Given the description of an element on the screen output the (x, y) to click on. 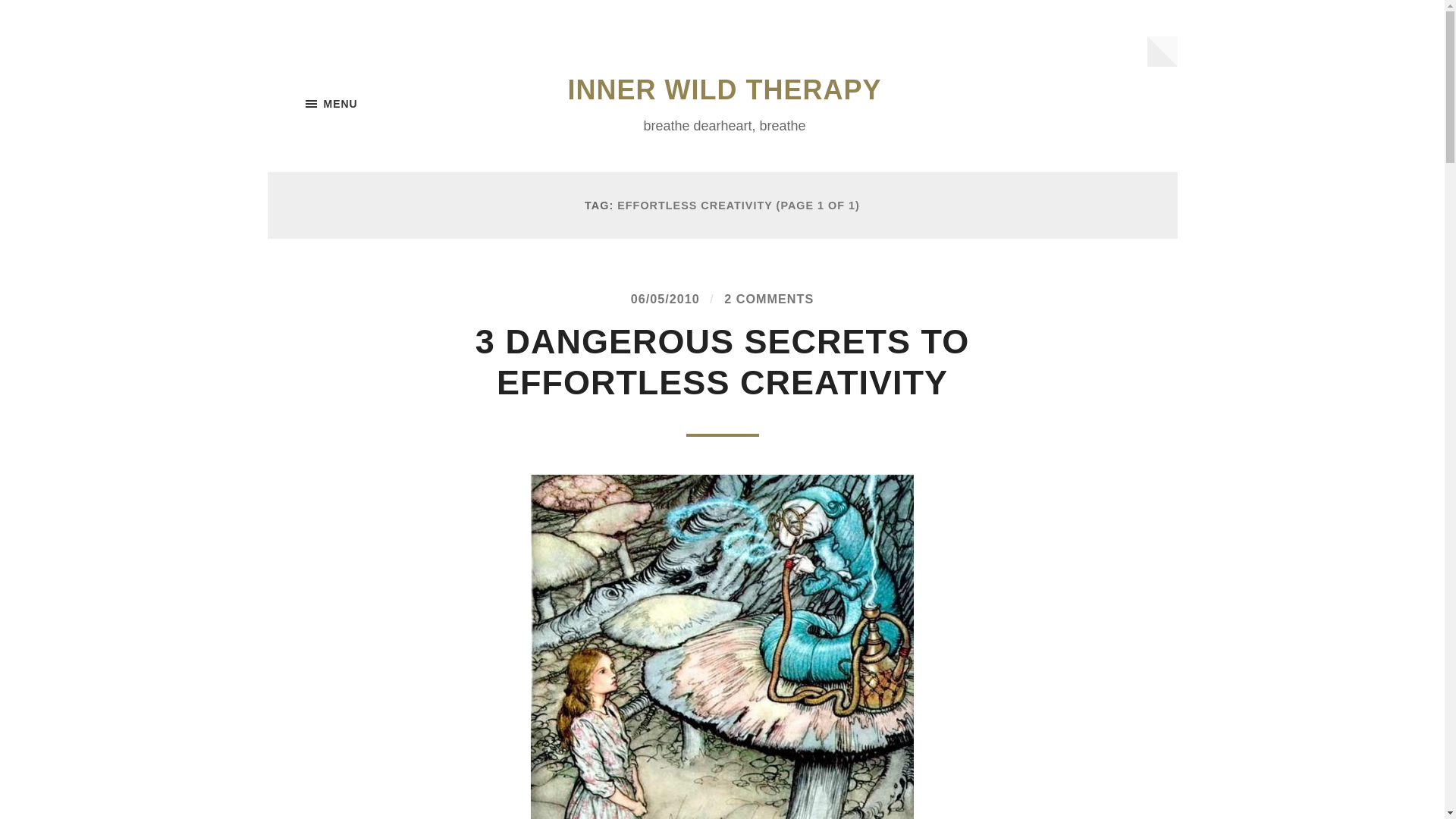
Advice from the caterpillar, Alice in Wonderland (722, 647)
MENU (380, 103)
INNER WILD THERAPY (723, 89)
3 DANGEROUS SECRETS TO EFFORTLESS CREATIVITY (722, 362)
2 COMMENTS (768, 298)
